Given the description of an element on the screen output the (x, y) to click on. 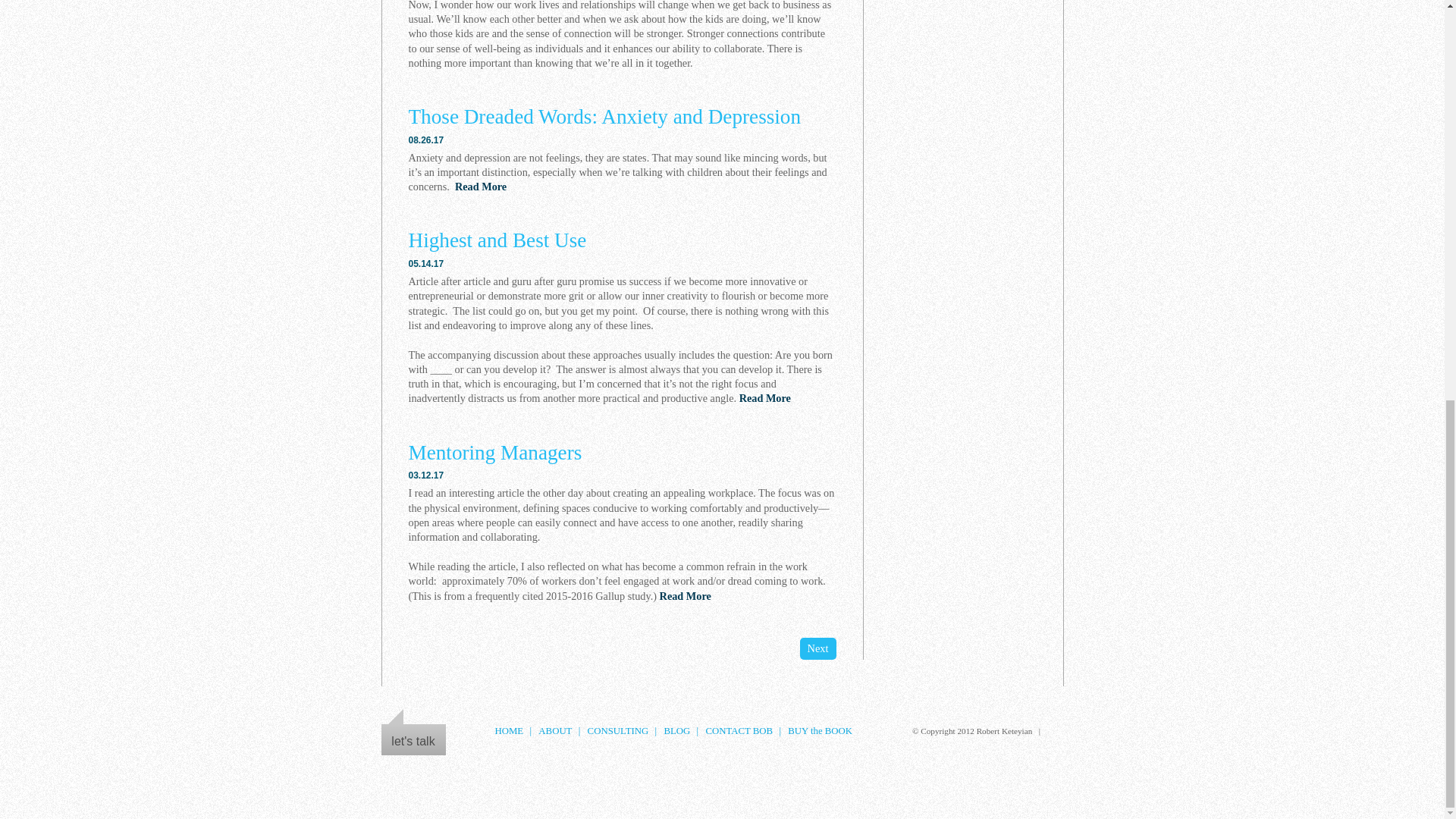
Full Highest and Best Use article (496, 240)
ABOUT (555, 730)
Those Dreaded Words: Anxiety and Depression (603, 116)
HOME (508, 730)
Highest and Best Use (496, 240)
CONSULTING (618, 730)
BLOG (676, 730)
Read More (764, 398)
CONTACT BOB (738, 730)
Next (818, 648)
BUY the BOOK (819, 730)
Mentoring Managers (493, 452)
Full Those Dreaded Words: Anxiety and Depression article (603, 116)
Crafted Pica (1055, 731)
Read More (480, 186)
